Given the description of an element on the screen output the (x, y) to click on. 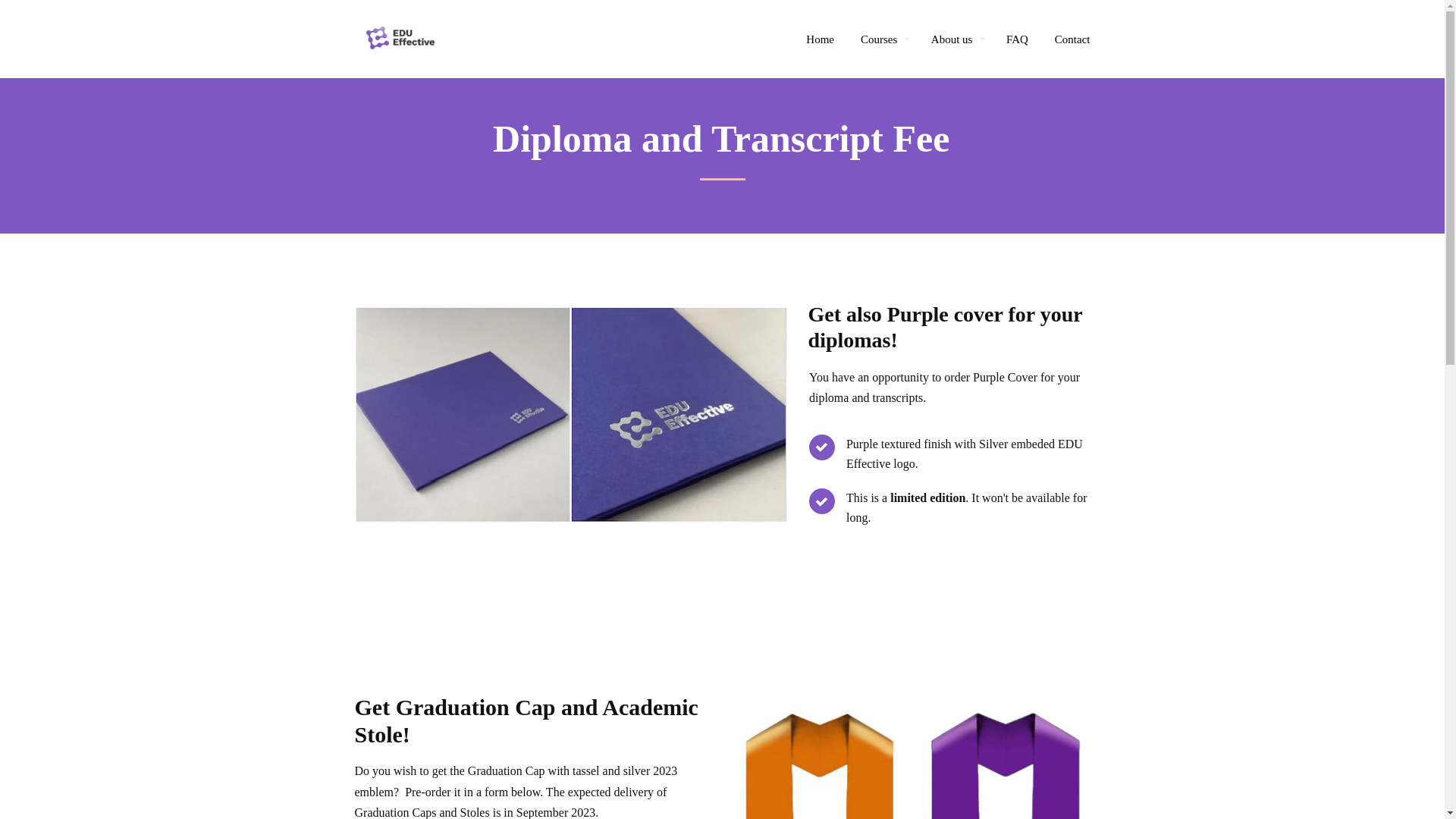
EDU Effective (400, 39)
Home (820, 39)
About us (958, 39)
ORDER NOW (722, 609)
Courses (885, 39)
Contact (1072, 39)
